Given the description of an element on the screen output the (x, y) to click on. 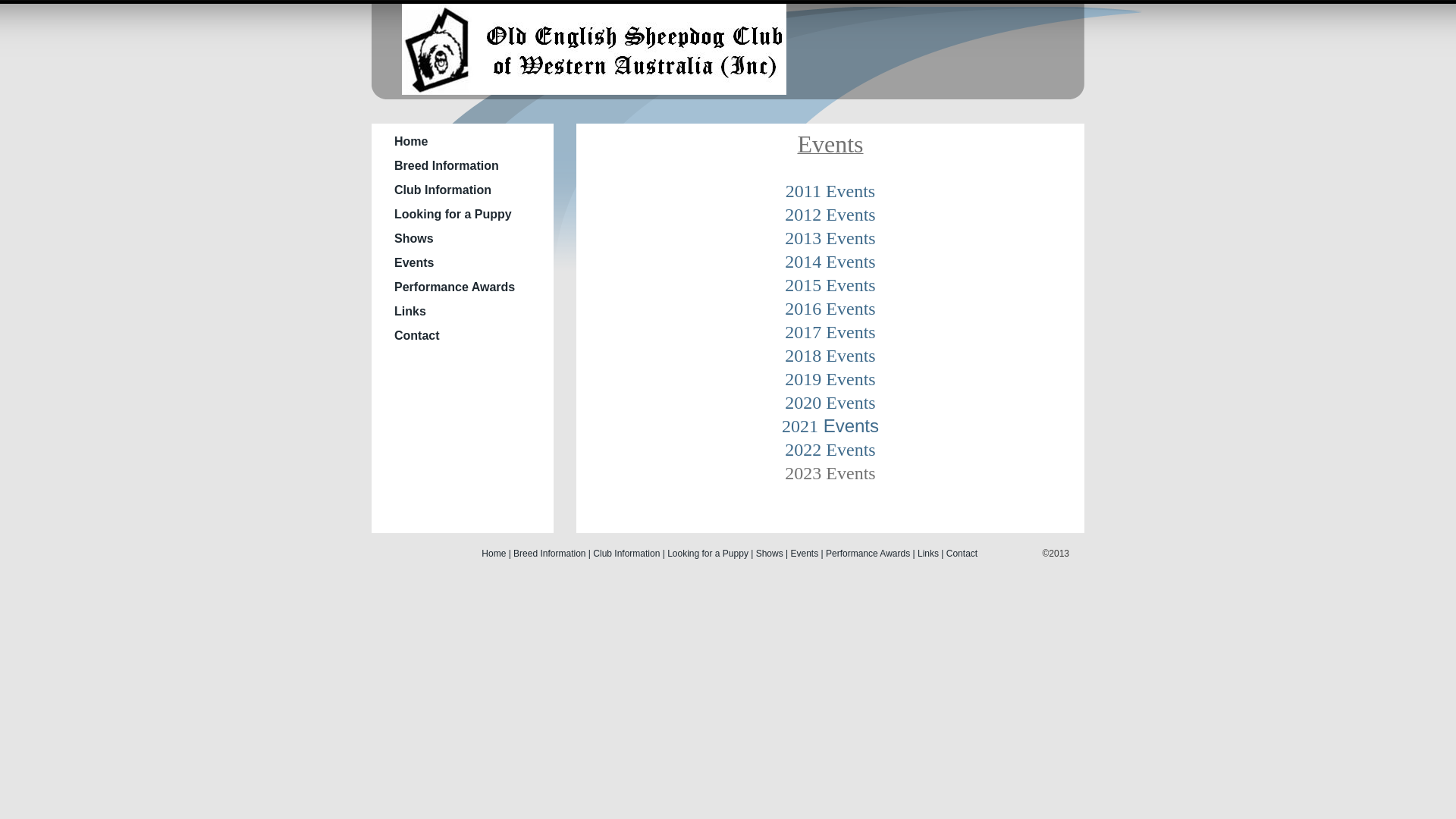
2015 Events Element type: text (829, 284)
  Element type: text (597, 86)
Contact Element type: text (961, 553)
Breed Information Element type: text (446, 165)
Looking for a Puppy Element type: text (452, 213)
Home Element type: text (493, 553)
2017 Events Element type: text (829, 332)
Performance Awards Element type: text (454, 286)
Home Element type: text (410, 140)
2012 Events Element type: text (829, 214)
2019 Events Element type: text (829, 379)
Club Information Element type: text (442, 189)
Events Element type: text (804, 553)
Shows Element type: text (413, 238)
Events Element type: text (413, 262)
Performance Awards Element type: text (867, 553)
Links Element type: text (410, 310)
Club Information Element type: text (626, 553)
2016 Events Element type: text (829, 308)
2022 Events Element type: text (829, 449)
Breed Information Element type: text (549, 553)
Shows Element type: text (769, 553)
2013 Events Element type: text (829, 237)
2018 Events Element type: text (829, 355)
2014 Events Element type: text (829, 261)
Links Element type: text (927, 553)
2020 Events Element type: text (829, 402)
2021 Events Element type: text (829, 425)
Contact Element type: text (416, 335)
Looking for a Puppy Element type: text (707, 553)
2011 Events Element type: text (830, 190)
